Given the description of an element on the screen output the (x, y) to click on. 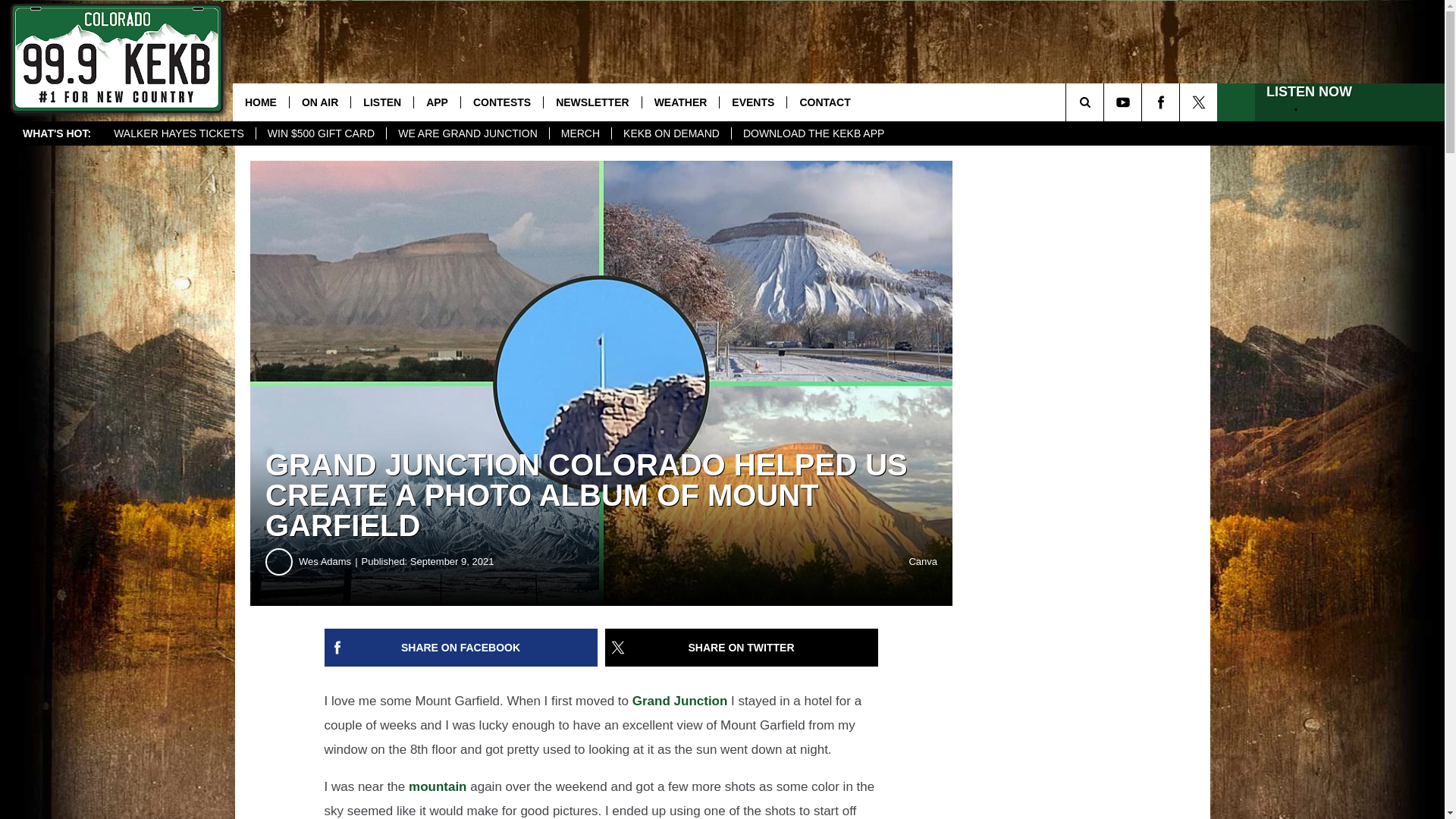
WALKER HAYES TICKETS (178, 133)
Share on Twitter (741, 647)
HOME (260, 102)
KEKB ON DEMAND (670, 133)
WHAT'S HOT: (56, 133)
LISTEN (381, 102)
SEARCH (1106, 102)
NEWSLETTER (591, 102)
MERCH (579, 133)
WEATHER (680, 102)
